Given the description of an element on the screen output the (x, y) to click on. 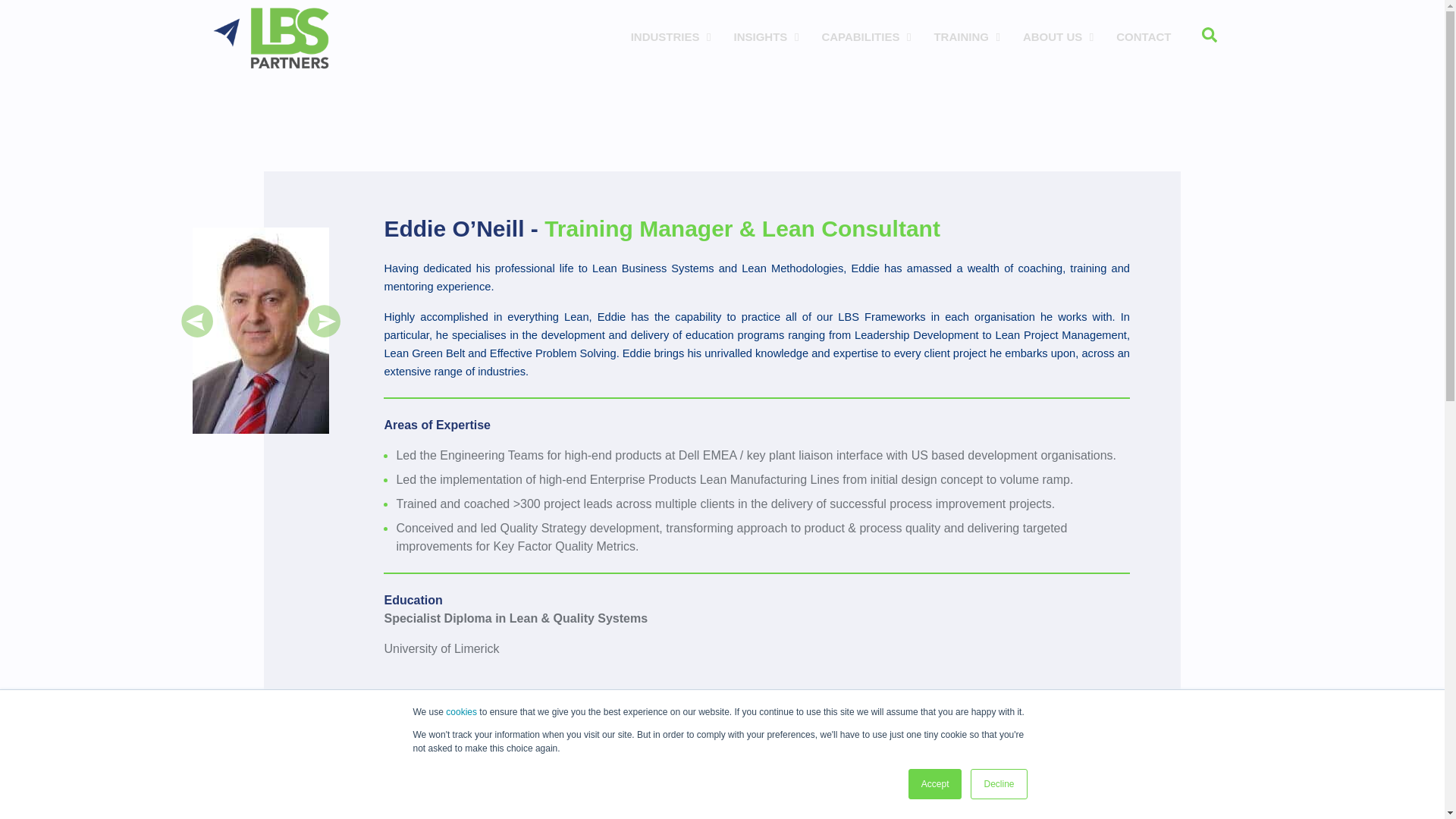
Decline (998, 784)
INDUSTRIES (667, 36)
TRAINING (962, 36)
cookies (461, 711)
Grainne Walshe (923, 37)
CAPABILITIES (197, 333)
Gerry Shaw (862, 36)
ABOUT US (323, 333)
Accept (1053, 36)
INSIGHTS (935, 784)
